Given the description of an element on the screen output the (x, y) to click on. 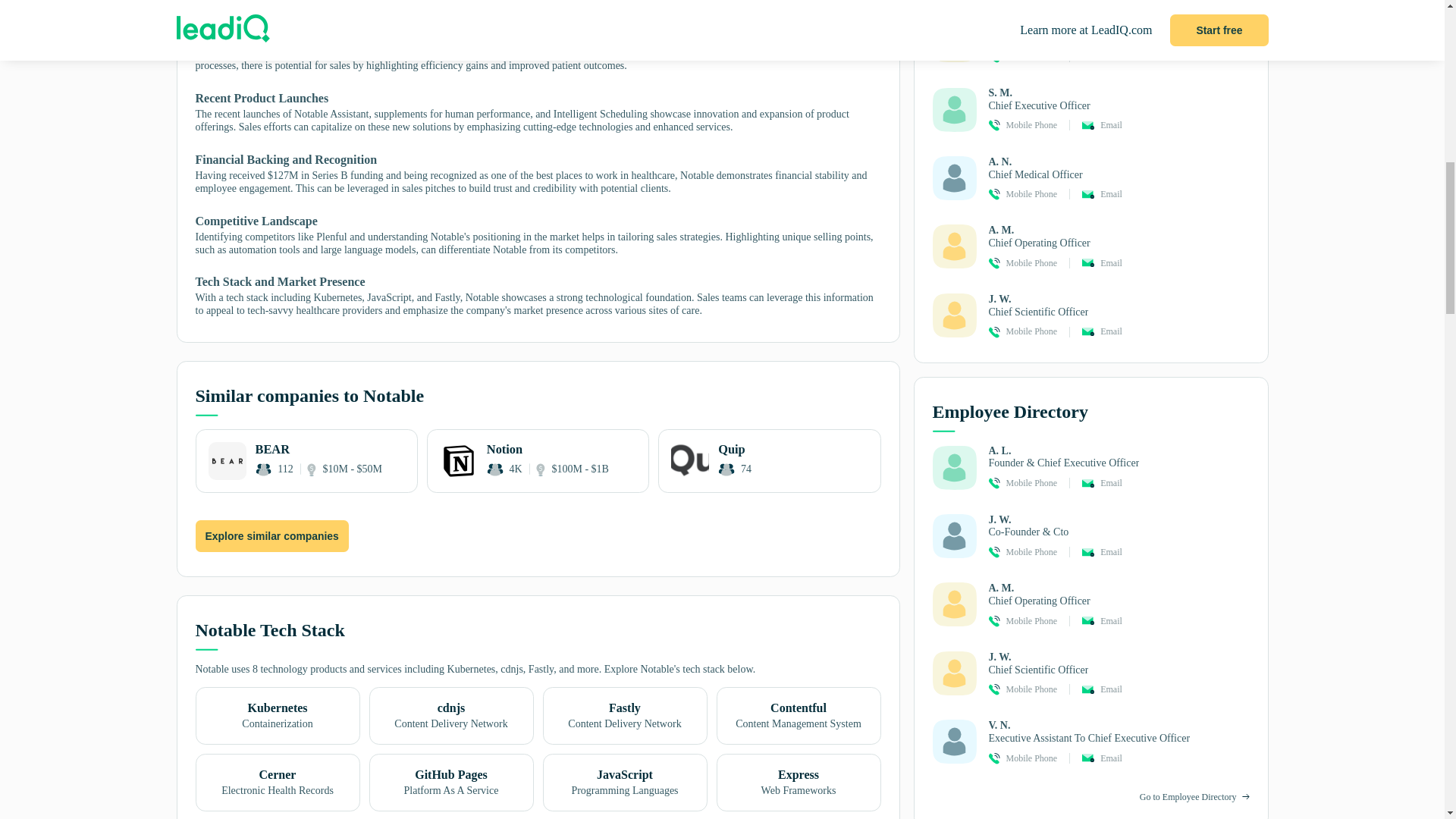
Explore similar companies (272, 536)
Explore similar companies (272, 536)
